Given the description of an element on the screen output the (x, y) to click on. 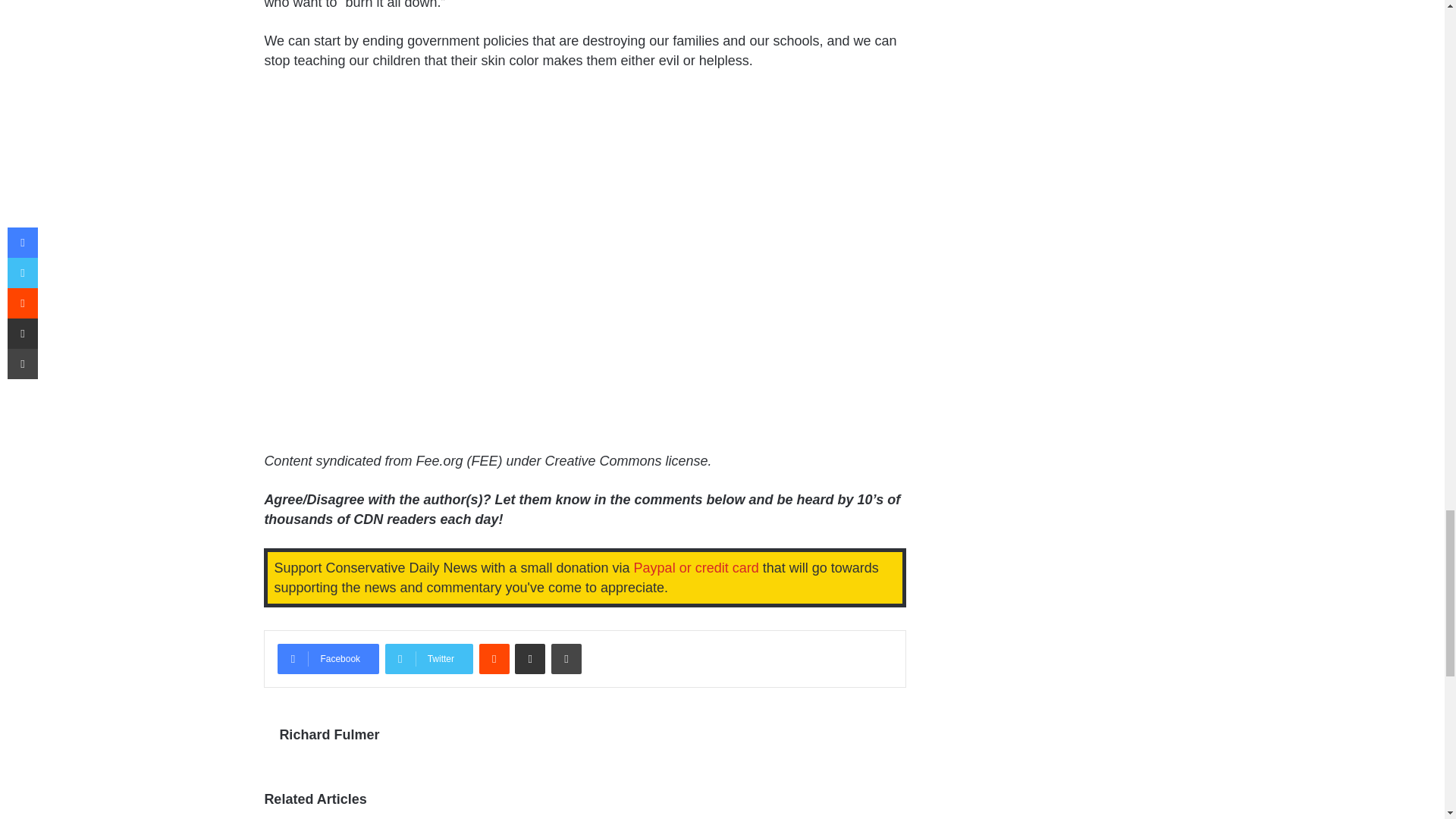
Twitter (429, 658)
Facebook (328, 658)
